Given the description of an element on the screen output the (x, y) to click on. 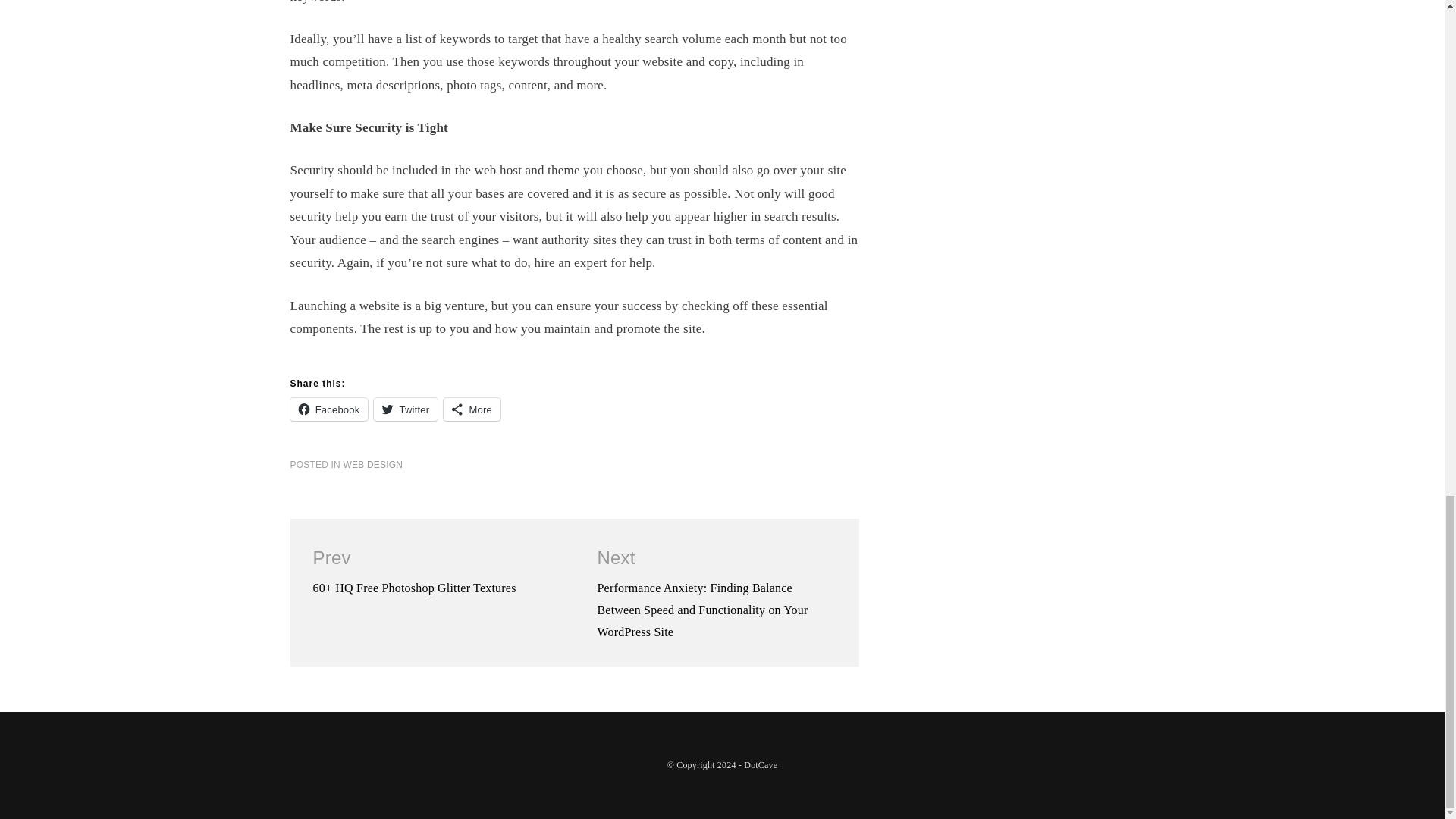
More (472, 409)
Facebook (328, 409)
Twitter (406, 409)
Click to share on Twitter (406, 409)
WEB DESIGN (373, 464)
Click to share on Facebook (328, 409)
